Given the description of an element on the screen output the (x, y) to click on. 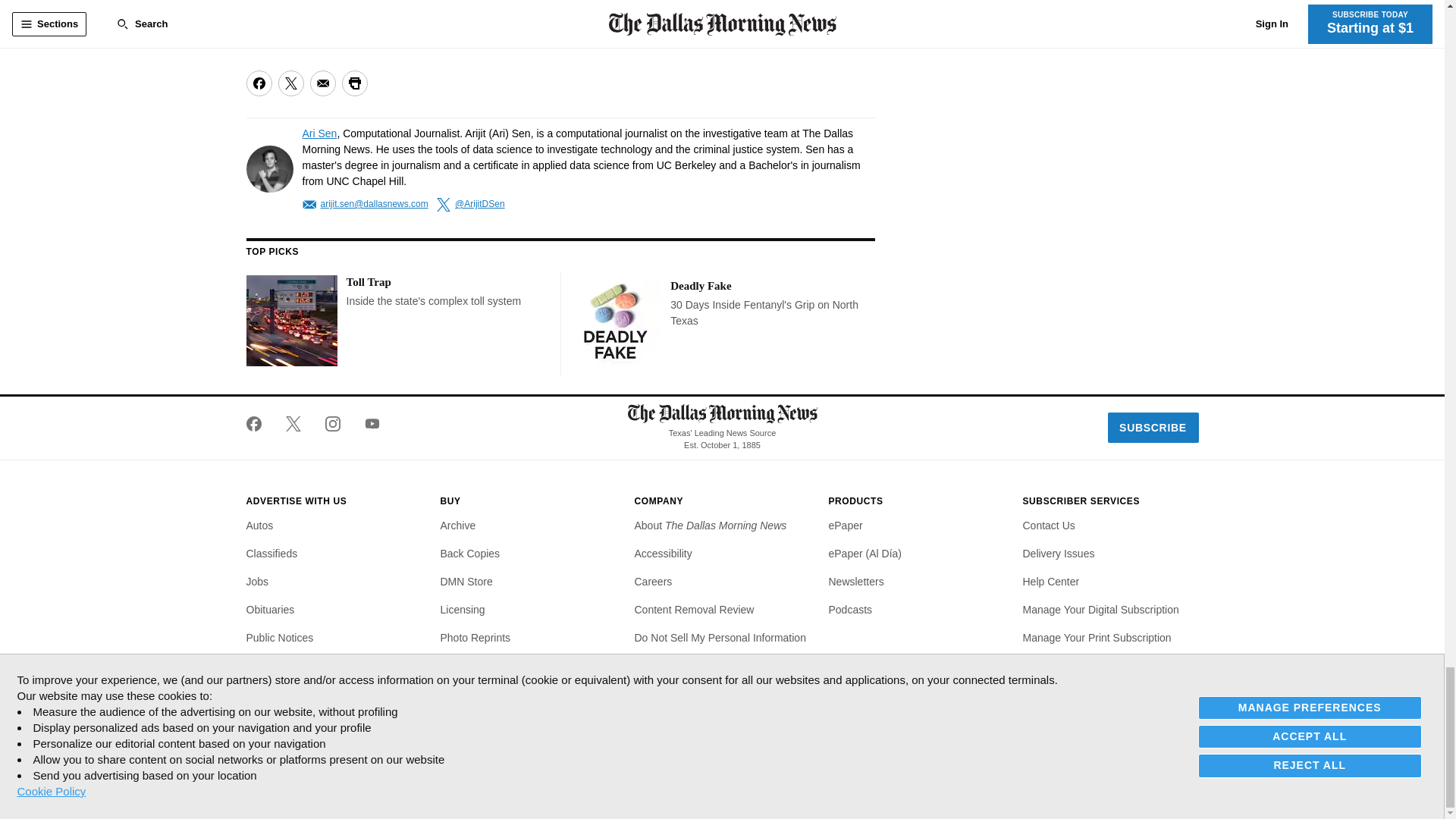
Print (353, 83)
The Dallas Morning News on Instagram (332, 423)
Share on Twitter (290, 83)
The Dallas Morning News on YouTube (365, 423)
The Dallas Morning News on Facebook (259, 423)
The Dallas Morning News on Twitter (293, 423)
Share via Email (321, 83)
Share on Facebook (258, 83)
